Given the description of an element on the screen output the (x, y) to click on. 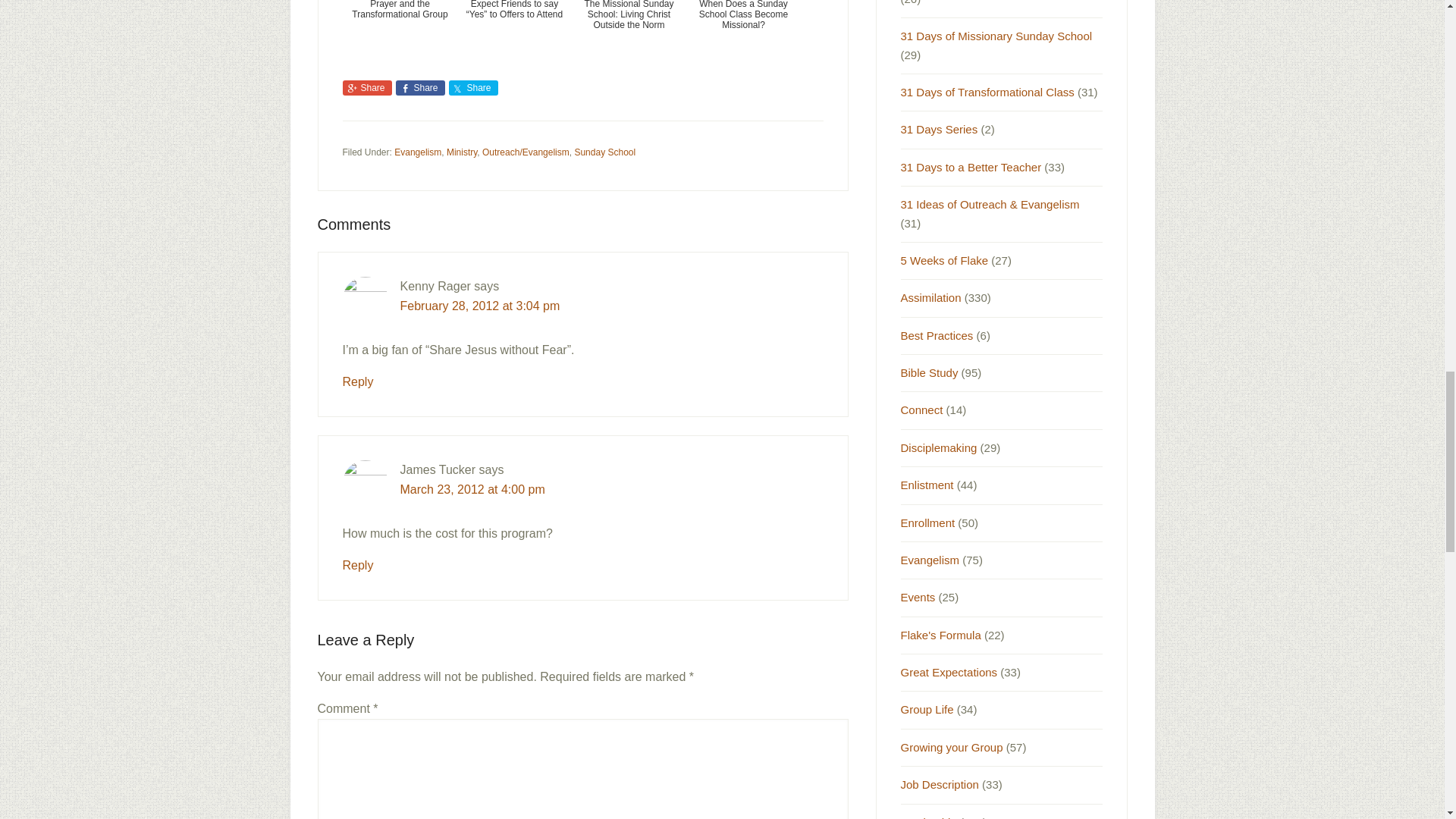
Prayer and the Transformational Group (400, 28)
Ministry (461, 152)
The Missional Sunday School: Living Christ Outside the Norm (629, 28)
Share (472, 87)
March 23, 2012 at 4:00 pm (472, 489)
Reply (358, 381)
Share (420, 87)
Reply (358, 564)
When Does a Sunday School Class Become Missional? (742, 28)
Sunday School (603, 152)
February 28, 2012 at 3:04 pm (480, 305)
Share (366, 87)
Evangelism (417, 152)
